Given the description of an element on the screen output the (x, y) to click on. 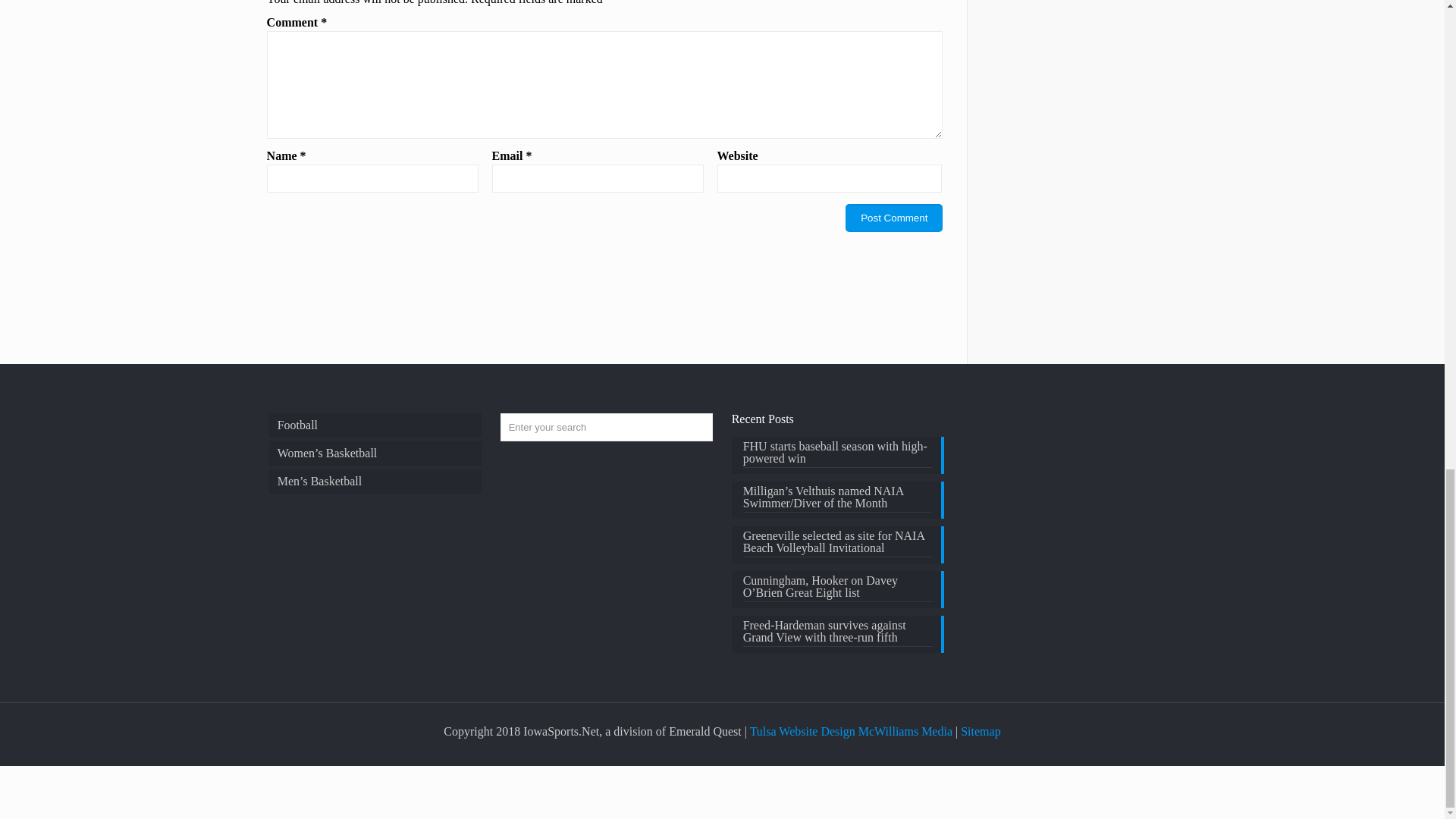
Post Comment (893, 217)
